Given the description of an element on the screen output the (x, y) to click on. 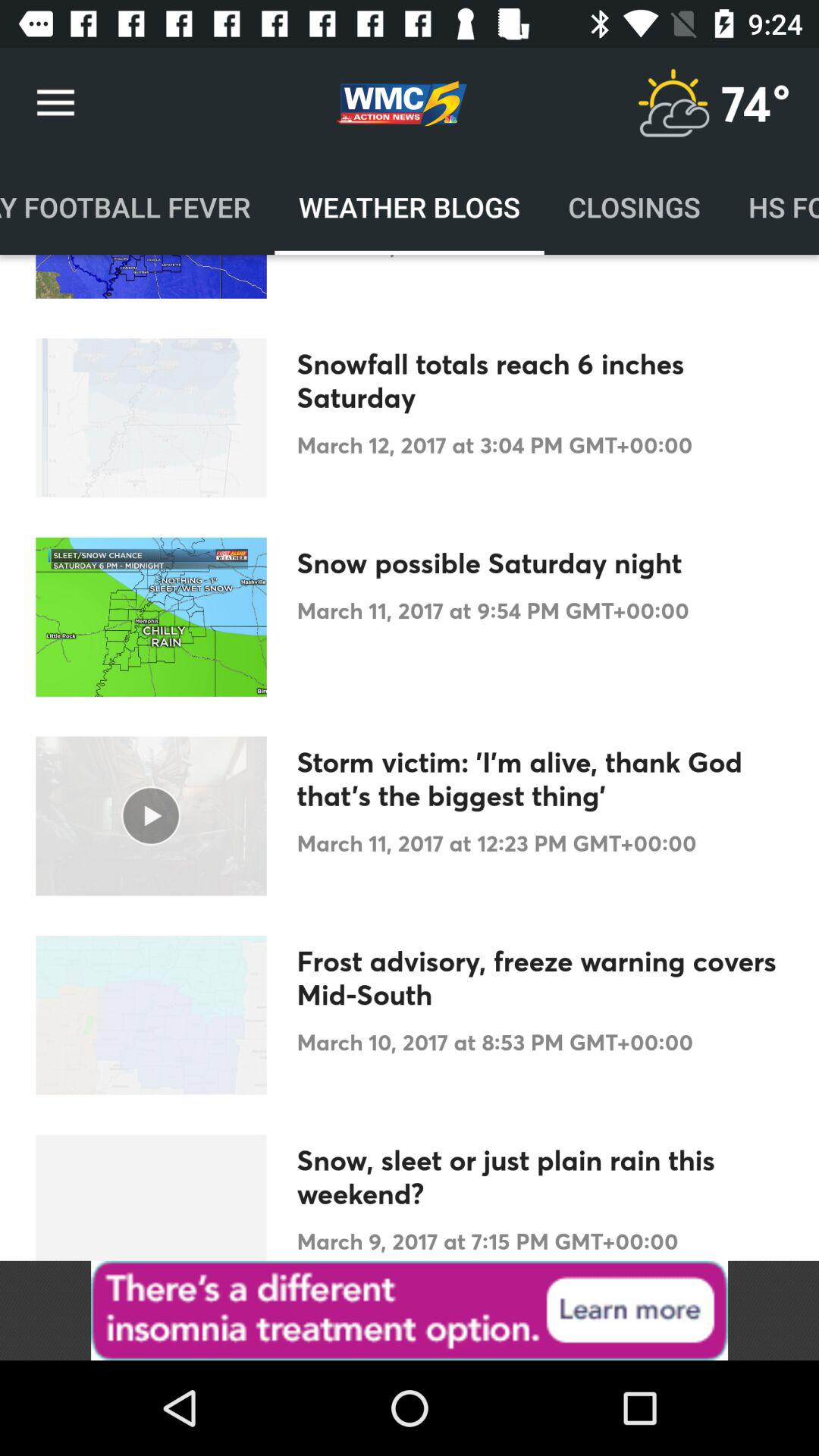
advertisement area (409, 1310)
